Given the description of an element on the screen output the (x, y) to click on. 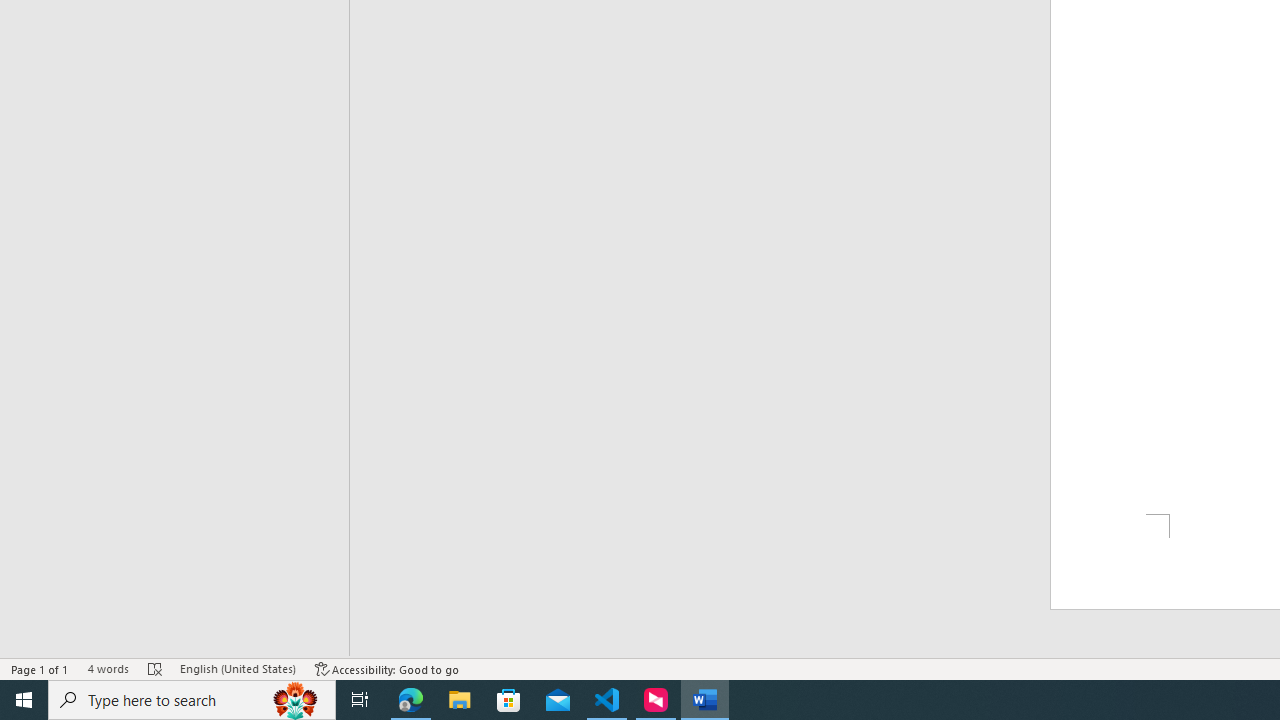
Spelling and Grammar Check Errors (155, 668)
Page Number Page 1 of 1 (39, 668)
Accessibility Checker Accessibility: Good to go (387, 668)
Language English (United States) (237, 668)
